Given the description of an element on the screen output the (x, y) to click on. 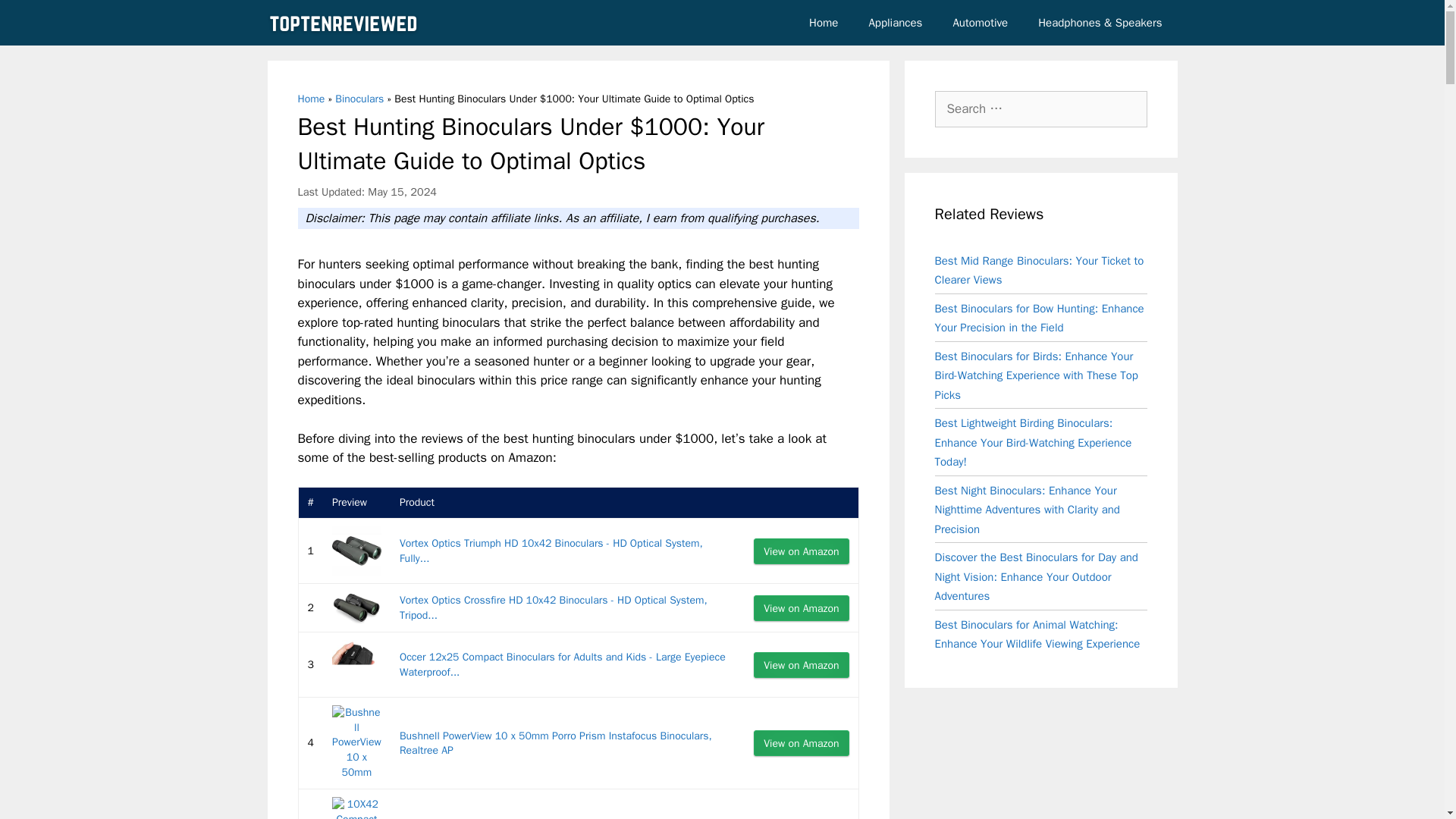
View on Amazon (801, 551)
Home (310, 98)
Appliances (895, 22)
TopTenReviewed (342, 22)
TopTenReviewed (346, 22)
View on Amazon (801, 664)
View on Amazon (801, 607)
Home (823, 22)
View on Amazon (801, 607)
